Given the description of an element on the screen output the (x, y) to click on. 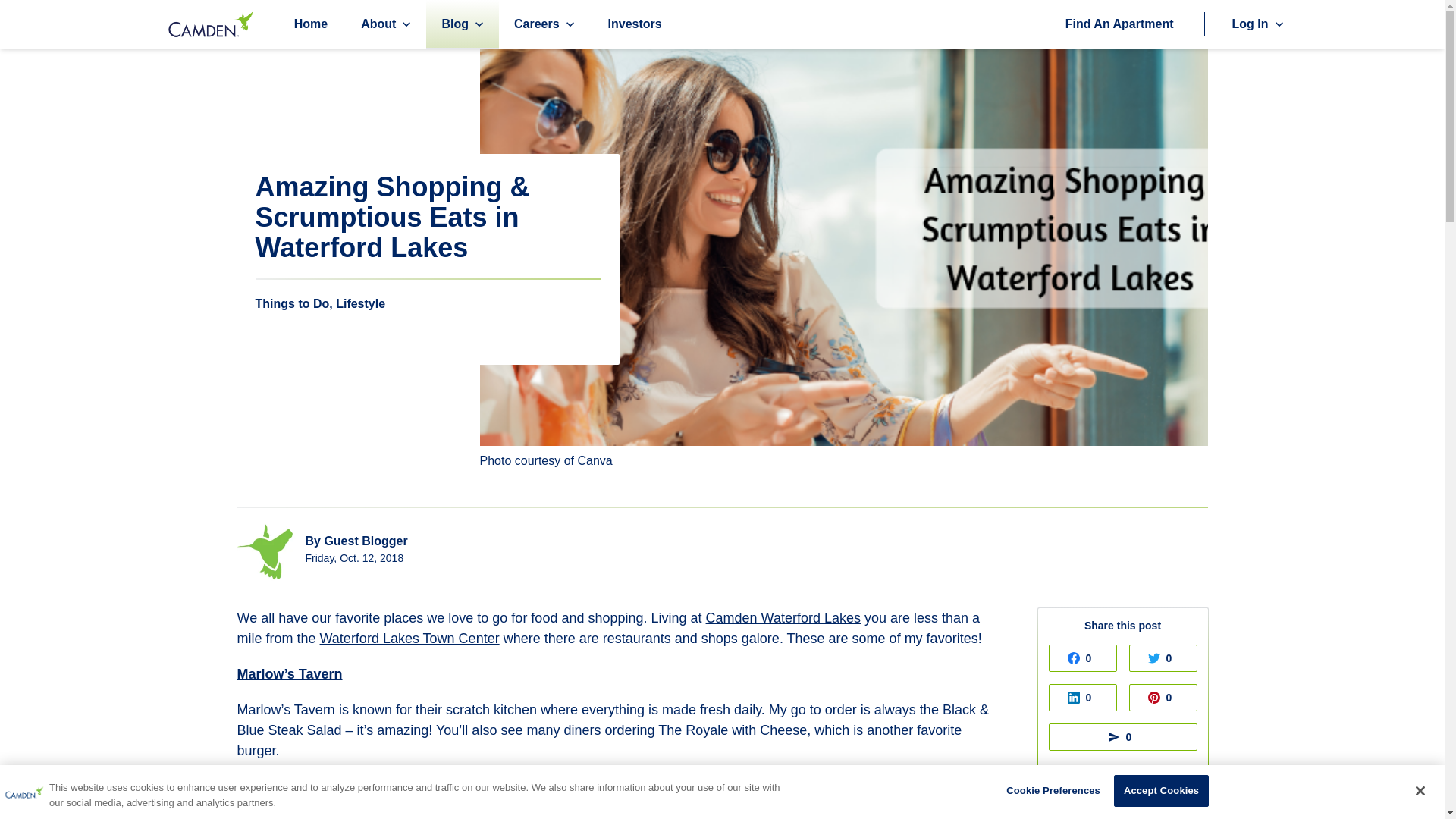
About (378, 23)
Share (1082, 697)
Find An Apartment (1119, 24)
Email (1122, 736)
Log In (1249, 23)
Tweet (1162, 657)
Investors (635, 24)
Careers (536, 23)
Camden Living Logo (24, 792)
Pin (1162, 697)
Blog (454, 22)
Lifestyle (360, 303)
Pin (1162, 697)
Home (310, 24)
Share (1082, 657)
